Given the description of an element on the screen output the (x, y) to click on. 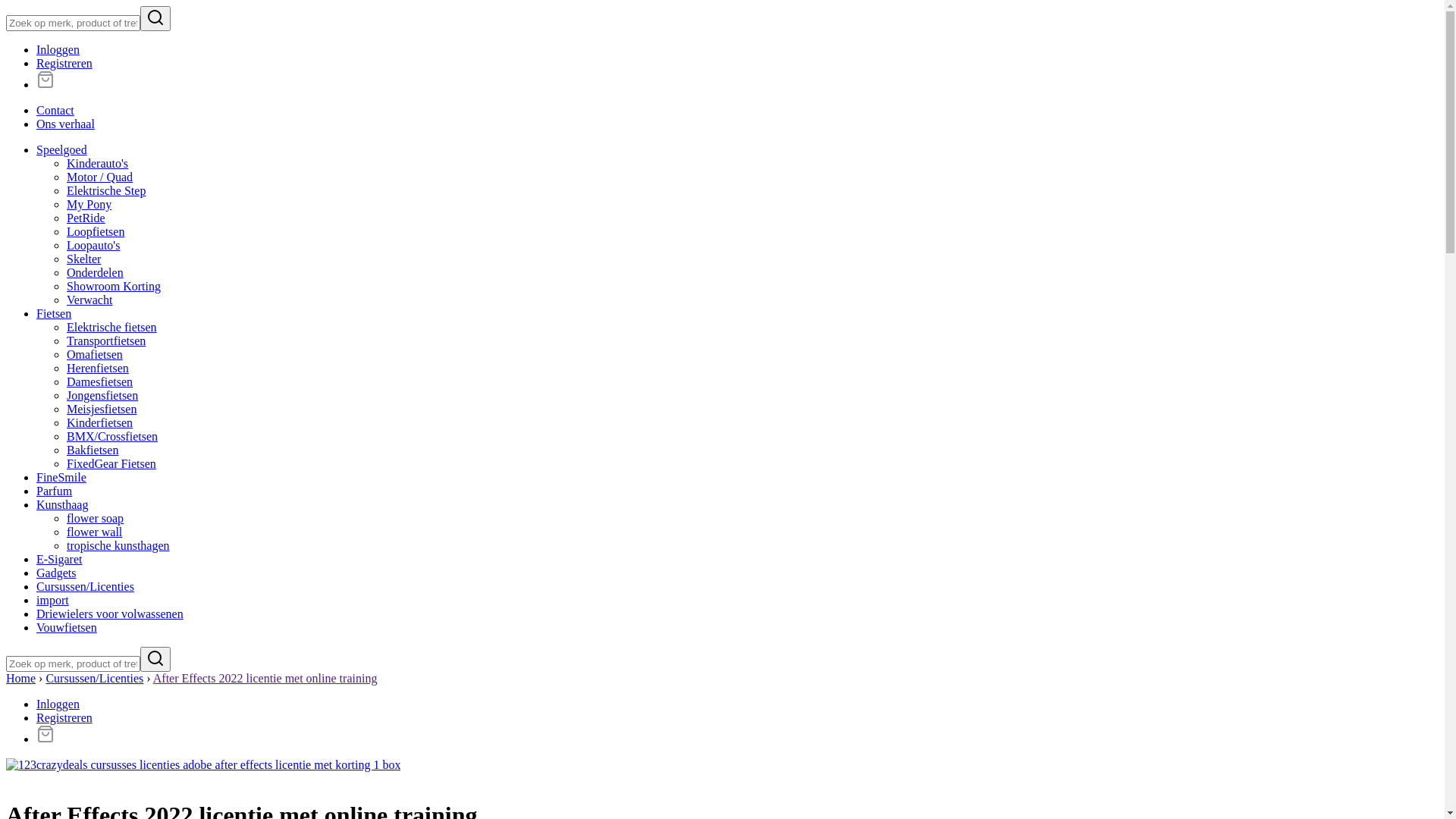
E-Sigaret Element type: text (58, 558)
Motor / Quad Element type: text (99, 176)
Registreren Element type: text (64, 717)
Kinderfietsen Element type: text (99, 422)
Omafietsen Element type: text (94, 354)
Fietsen Element type: text (53, 313)
Elektrische fietsen Element type: text (111, 326)
flower soap Element type: text (94, 517)
Kunsthaag Element type: text (61, 504)
Loopauto's Element type: text (92, 244)
Speelgoed Element type: text (61, 149)
import Element type: text (52, 599)
Verwacht Element type: text (89, 299)
Inloggen Element type: text (57, 49)
My Pony Element type: text (88, 203)
Elektrische Step Element type: text (105, 190)
Gadgets Element type: text (55, 572)
Cursussen/Licenties Element type: text (94, 677)
Vouwfietsen Element type: text (66, 627)
tropische kunsthagen Element type: text (117, 545)
Home Element type: text (20, 677)
Showroom Korting Element type: text (113, 285)
Herenfietsen Element type: text (97, 367)
Bakfietsen Element type: text (92, 449)
Jongensfietsen Element type: text (102, 395)
Parfum Element type: text (54, 490)
Registreren Element type: text (64, 62)
BMX/Crossfietsen Element type: text (111, 435)
flower wall Element type: text (94, 531)
Loopfietsen Element type: text (95, 231)
Transportfietsen Element type: text (105, 340)
Kinderauto's Element type: text (97, 162)
Meisjesfietsen Element type: text (101, 408)
After Effects 2022 licentie met online training Element type: text (265, 677)
Skelter Element type: text (83, 258)
Contact Element type: text (55, 109)
FineSmile Element type: text (61, 476)
Damesfietsen Element type: text (99, 381)
Cursussen/Licenties Element type: text (85, 586)
PetRide Element type: text (85, 217)
Ons verhaal Element type: text (65, 123)
FixedGear Fietsen Element type: text (111, 463)
Inloggen Element type: text (57, 703)
Driewielers voor volwassenen Element type: text (109, 613)
Onderdelen Element type: text (94, 272)
